Given the description of an element on the screen output the (x, y) to click on. 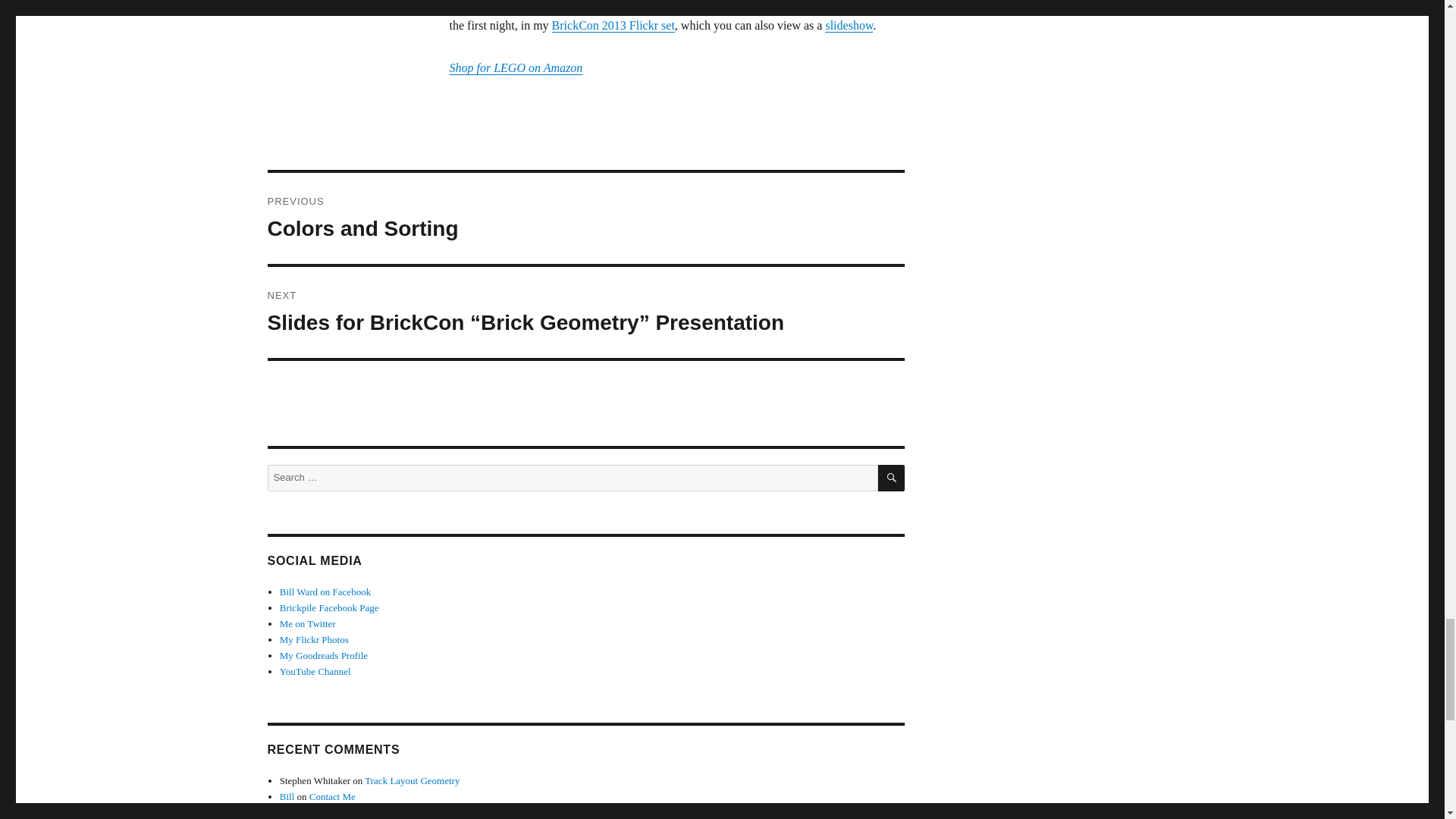
slideshow (848, 24)
Shop for LEGO on Amazon (515, 67)
My photostream on flickr.com (314, 639)
BrickCon 2013 Flickr set (585, 217)
